Given the description of an element on the screen output the (x, y) to click on. 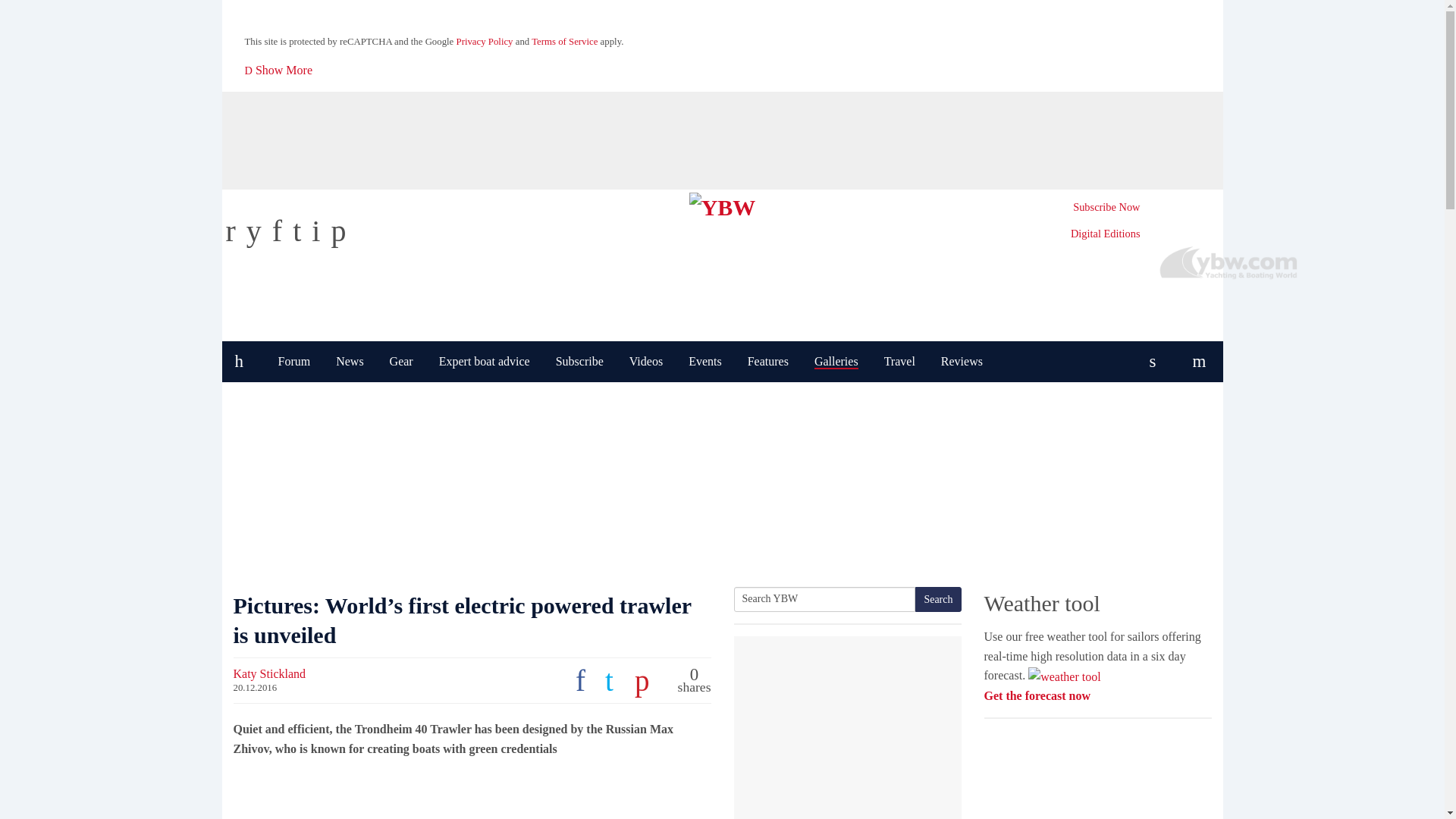
YBW (721, 204)
Terms of Service (563, 41)
Show More (278, 69)
YBW (721, 204)
Forum (293, 361)
Digital Editions (1105, 233)
Subscribe Now (1106, 206)
Subscribe Now (1106, 206)
Digital Editions (1105, 233)
Katy Stickland's Profile (268, 673)
